Given the description of an element on the screen output the (x, y) to click on. 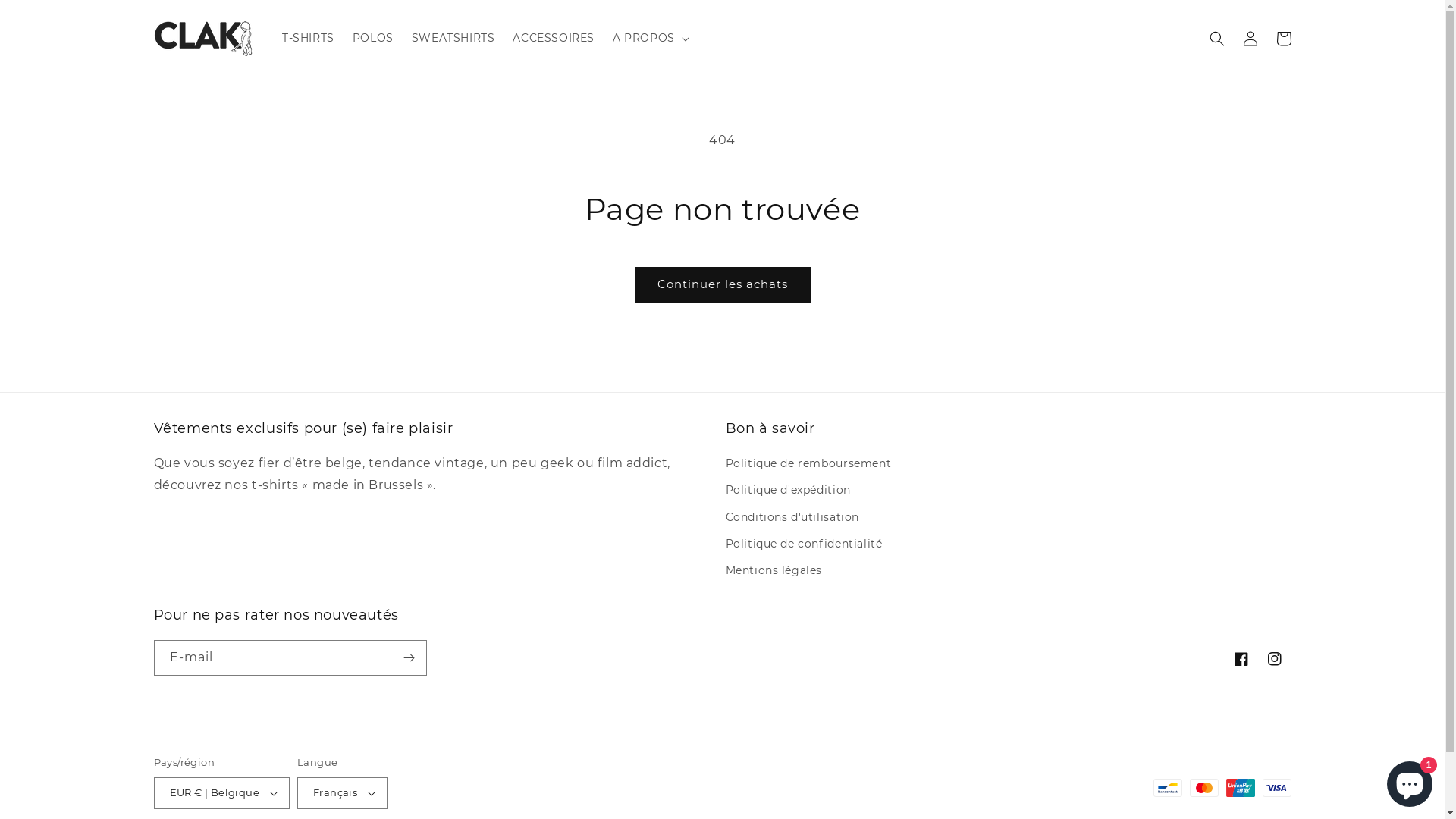
POLOS Element type: text (372, 37)
ACCESSOIRES Element type: text (553, 37)
T-SHIRTS Element type: text (308, 37)
Conditions d'utilisation Element type: text (791, 517)
Facebook Element type: text (1240, 658)
Politique de remboursement Element type: text (807, 465)
SWEATSHIRTS Element type: text (453, 37)
Instagram Element type: text (1273, 658)
Chat de la boutique en ligne Shopify Element type: hover (1409, 780)
Continuer les achats Element type: text (721, 284)
Connexion Element type: text (1249, 37)
Panier Element type: text (1282, 37)
